Given the description of an element on the screen output the (x, y) to click on. 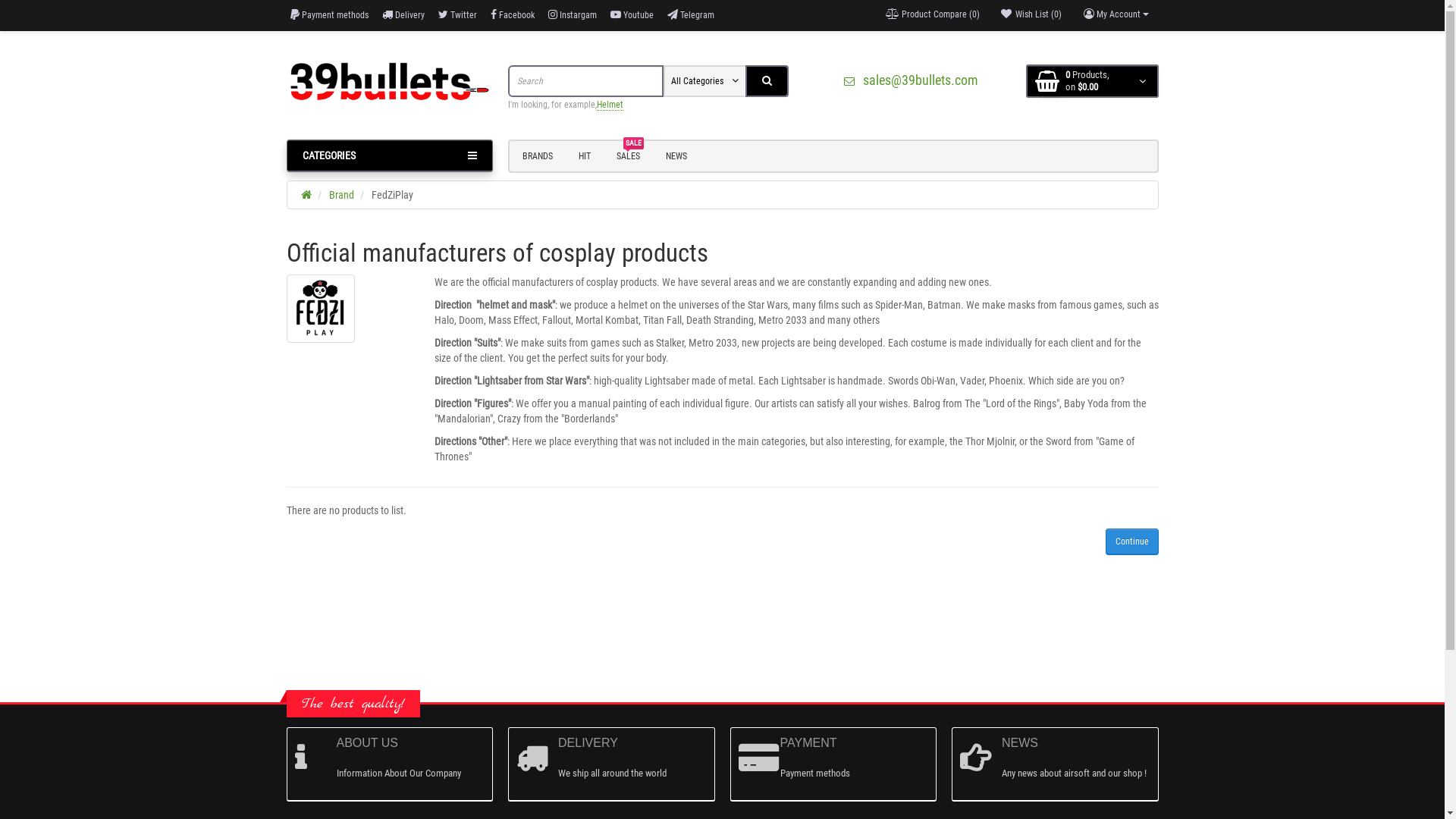
Twitter Element type: text (457, 15)
All Categories   Element type: text (704, 81)
CATEGORIES Element type: text (389, 155)
DELIVERY
We ship all around the world Element type: text (611, 764)
sales@39bullets.com Element type: text (907, 79)
NEWS
Any news about airsoft and our shop ! Element type: text (1054, 764)
My Account Element type: text (1115, 14)
Delivery Element type: text (403, 15)
HIT Element type: text (584, 156)
39bullets Element type: hover (389, 81)
ABOUT US
Information About Our Company Element type: text (389, 764)
Payment methods Element type: text (328, 15)
Brand Element type: text (341, 194)
Product Compare (0) Element type: text (931, 14)
Facebook Element type: text (511, 15)
Wish List (0) Element type: text (1029, 14)
0 Products,
on $0.00 Element type: text (1091, 80)
NEWS Element type: text (676, 156)
BRANDS Element type: text (537, 156)
SALE
SALES Element type: text (628, 156)
PAYMENT
Payment methods Element type: text (832, 764)
Youtube Element type: text (630, 15)
Telegram Element type: text (690, 15)
Official manufacturers of cosplay products Element type: hover (320, 308)
Continue Element type: text (1131, 541)
Instargam Element type: text (571, 15)
Helmet Element type: text (609, 104)
